Given the description of an element on the screen output the (x, y) to click on. 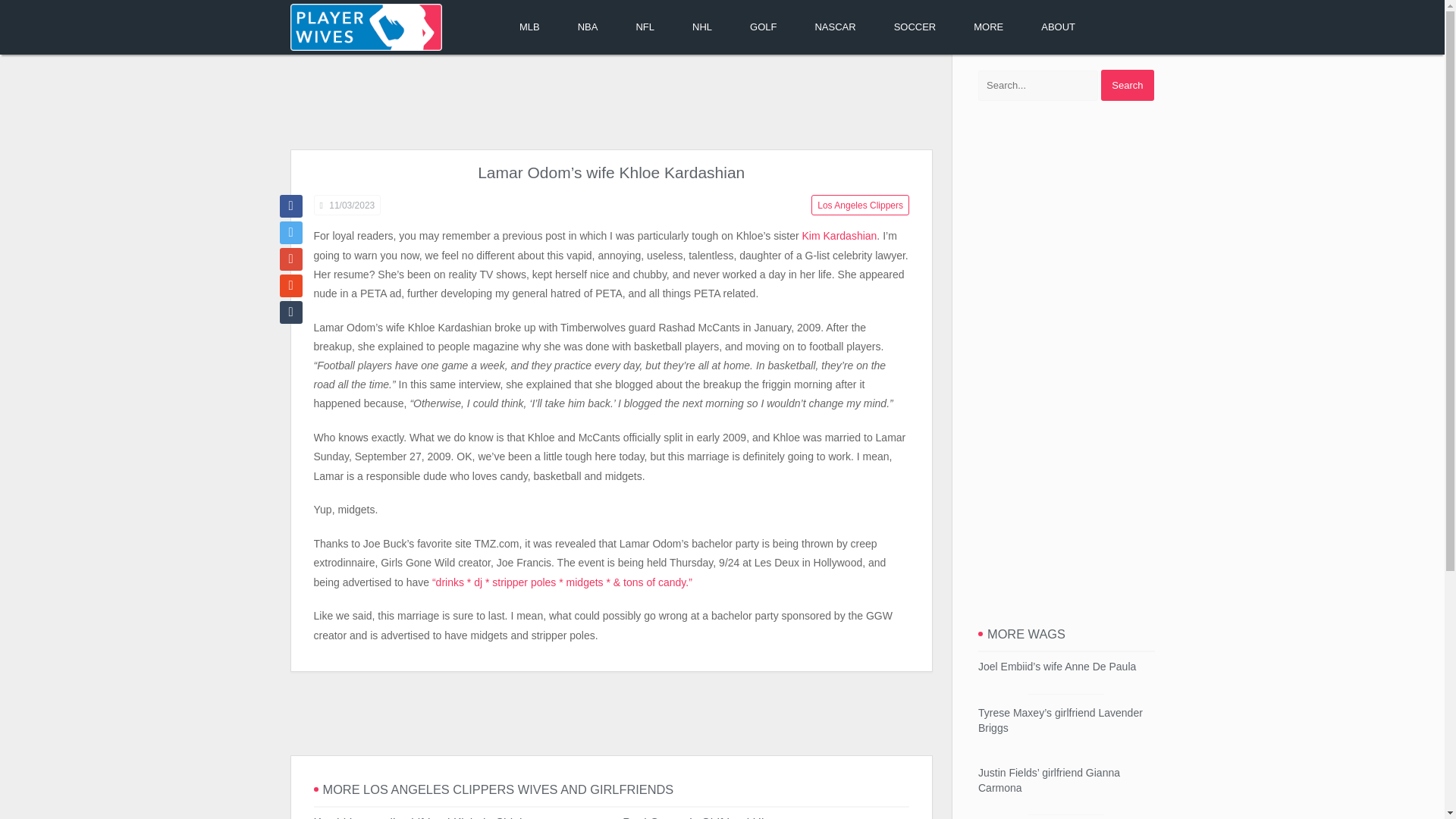
NFL Wives (643, 27)
NHL (701, 27)
search (1127, 84)
NHL Wives (701, 27)
Advertisement (610, 103)
More Wives (988, 27)
NASCAR Wives (834, 27)
MLB (529, 27)
Golf Wives (762, 27)
Los Angeles Clippers (859, 204)
NBA Wives (588, 27)
MLB Wives (529, 27)
Soccer Wives (915, 27)
Los Angeles Clippers (859, 204)
NFL (643, 27)
